Given the description of an element on the screen output the (x, y) to click on. 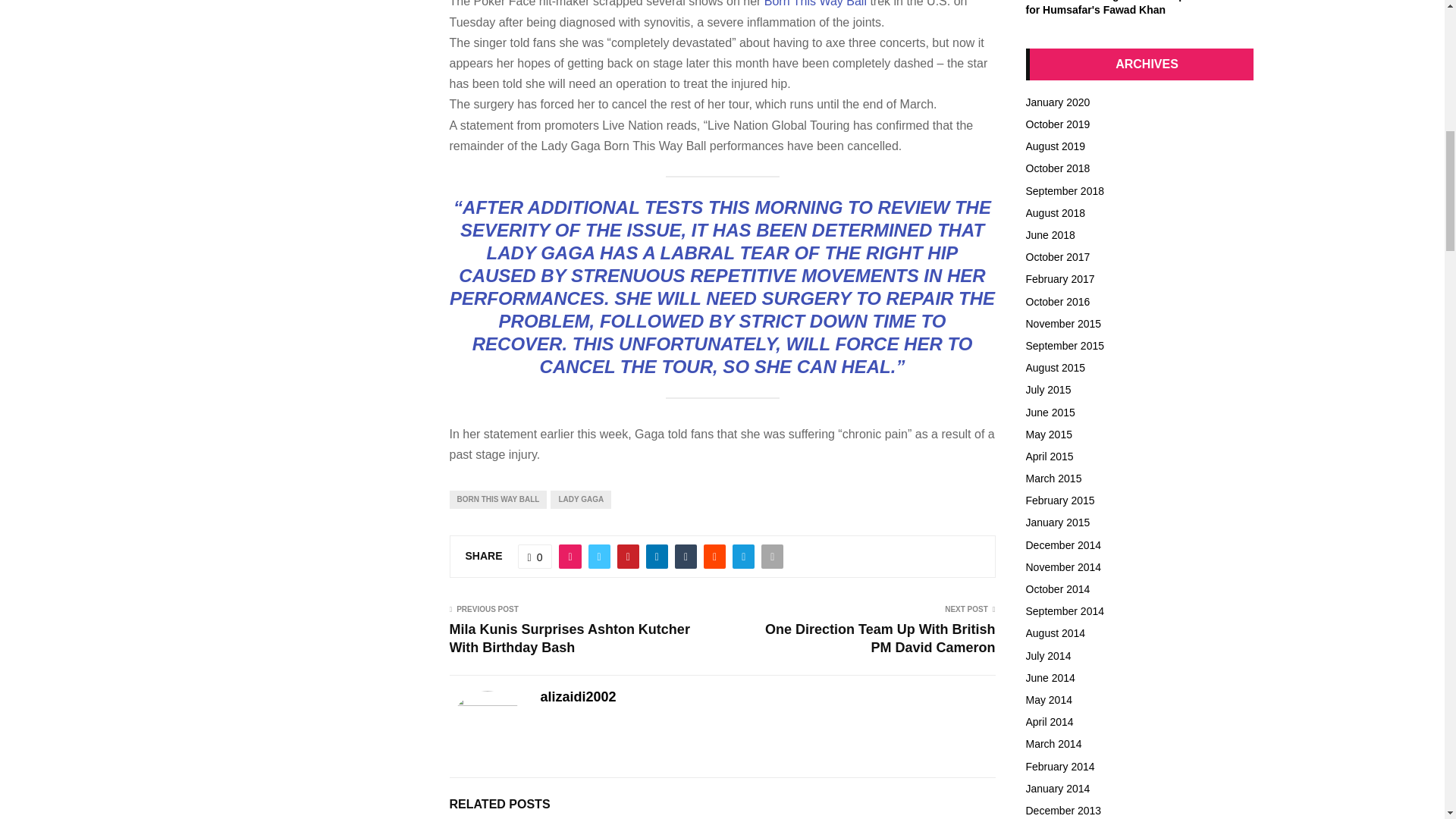
Like (535, 556)
BORN THIS WAY BALL (497, 499)
Born This Way Ball (815, 3)
